Given the description of an element on the screen output the (x, y) to click on. 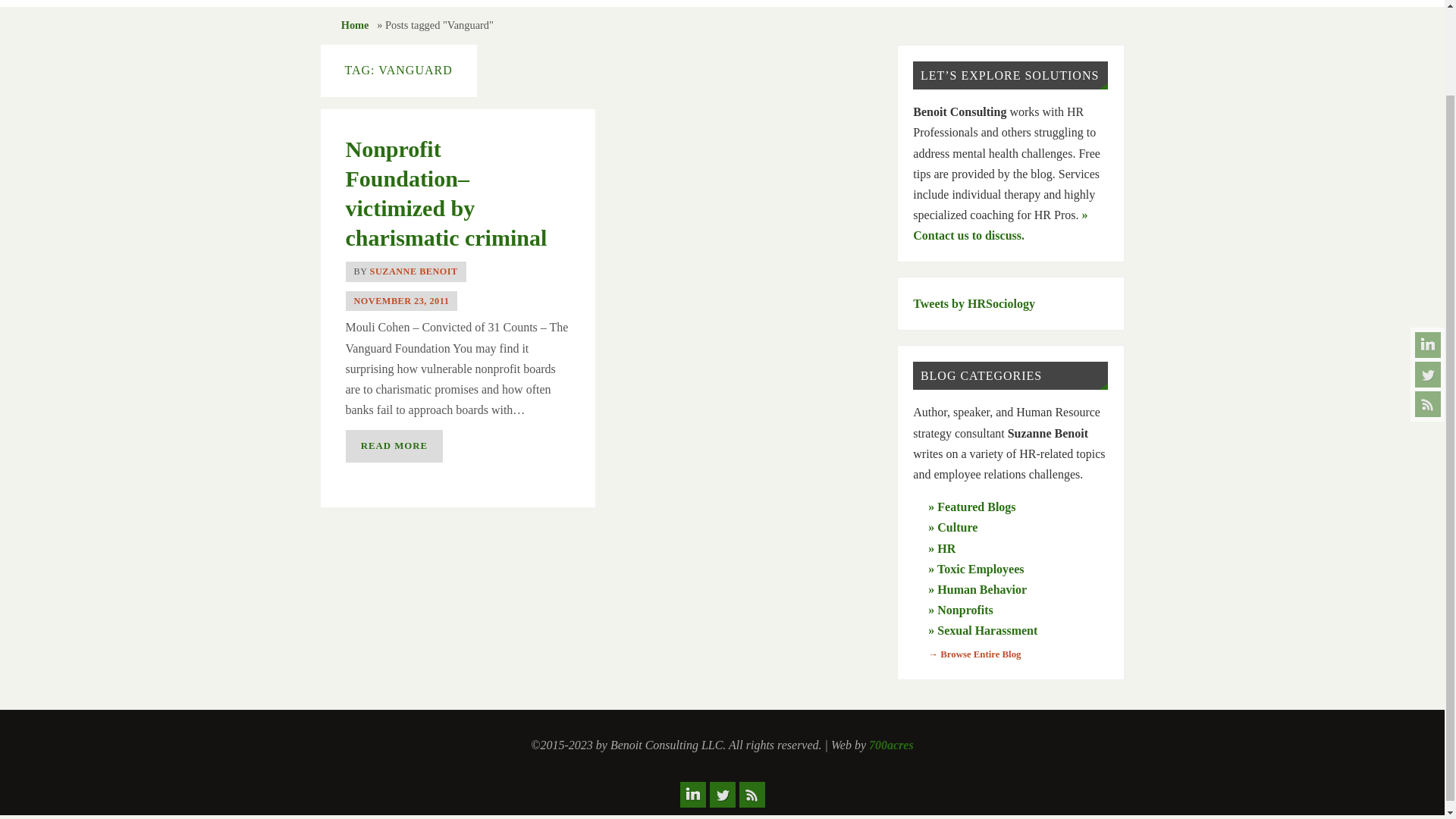
Home (354, 24)
READ MORE (395, 445)
Benoit Consulting (564, 3)
Tweets by HRSociology (973, 303)
Twitter (722, 794)
LinkedIn (1428, 246)
LinkedIn (691, 794)
SUZANNE BENOIT (413, 271)
Twitter (1428, 275)
RSS Feed (751, 794)
RSS Feed (1428, 305)
700acres (891, 744)
View all posts by Suzanne Benoit (413, 271)
NOVEMBER 23, 2011 (400, 300)
